Given the description of an element on the screen output the (x, y) to click on. 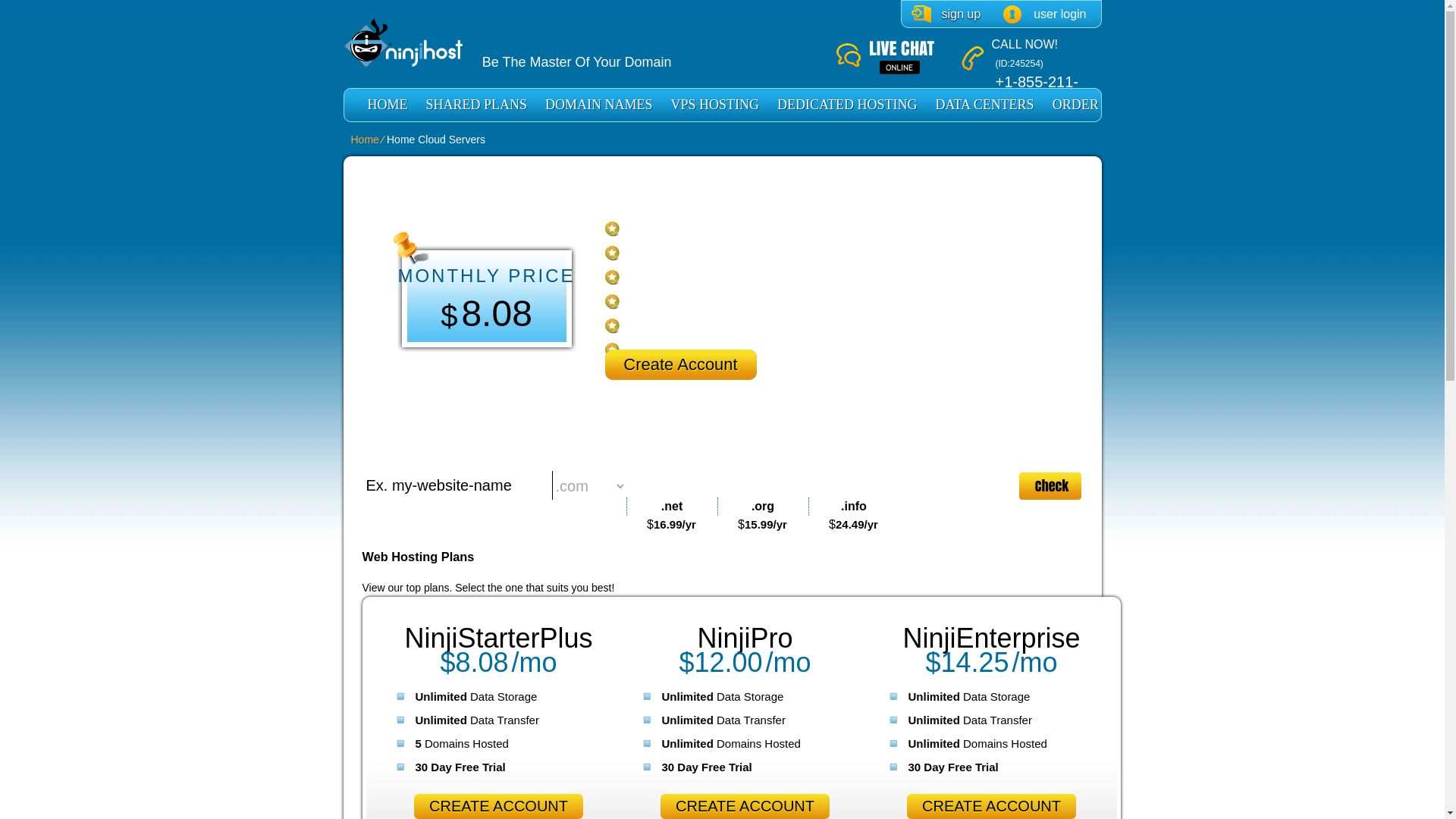
CREATE ACCOUNT (498, 806)
Home (364, 139)
user login (1044, 13)
DATA CENTERS (984, 104)
sign up (946, 13)
ORDER (1075, 104)
sign up (946, 13)
CREATE ACCOUNT (991, 806)
HOME (387, 104)
Live chat online (897, 58)
client login (1044, 13)
NinjiPro (744, 637)
DOMAIN NAMES (598, 104)
NinjiStarterPlus (498, 637)
SHARED PLANS (476, 104)
